Given the description of an element on the screen output the (x, y) to click on. 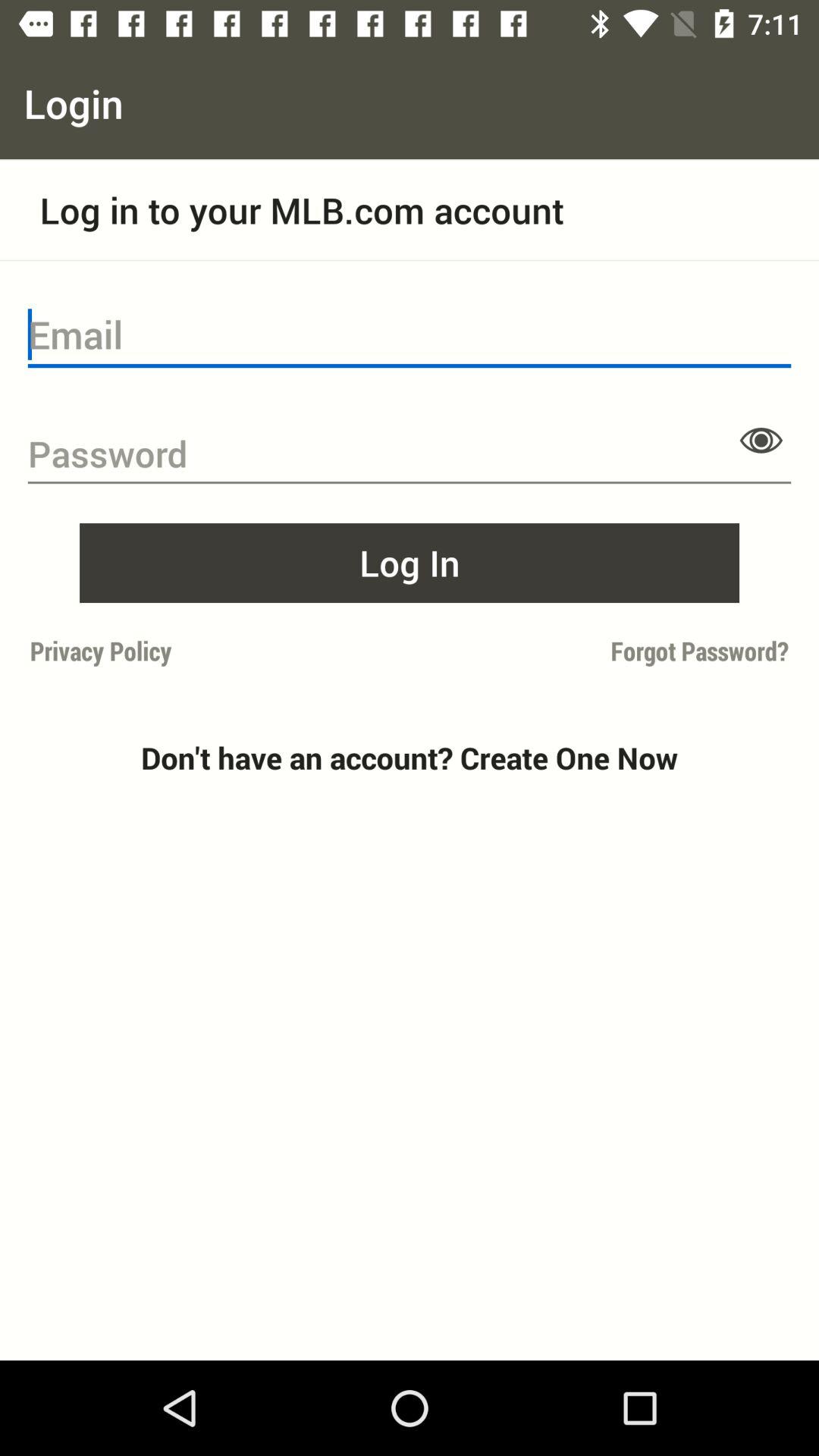
open forgot password? item (604, 650)
